Given the description of an element on the screen output the (x, y) to click on. 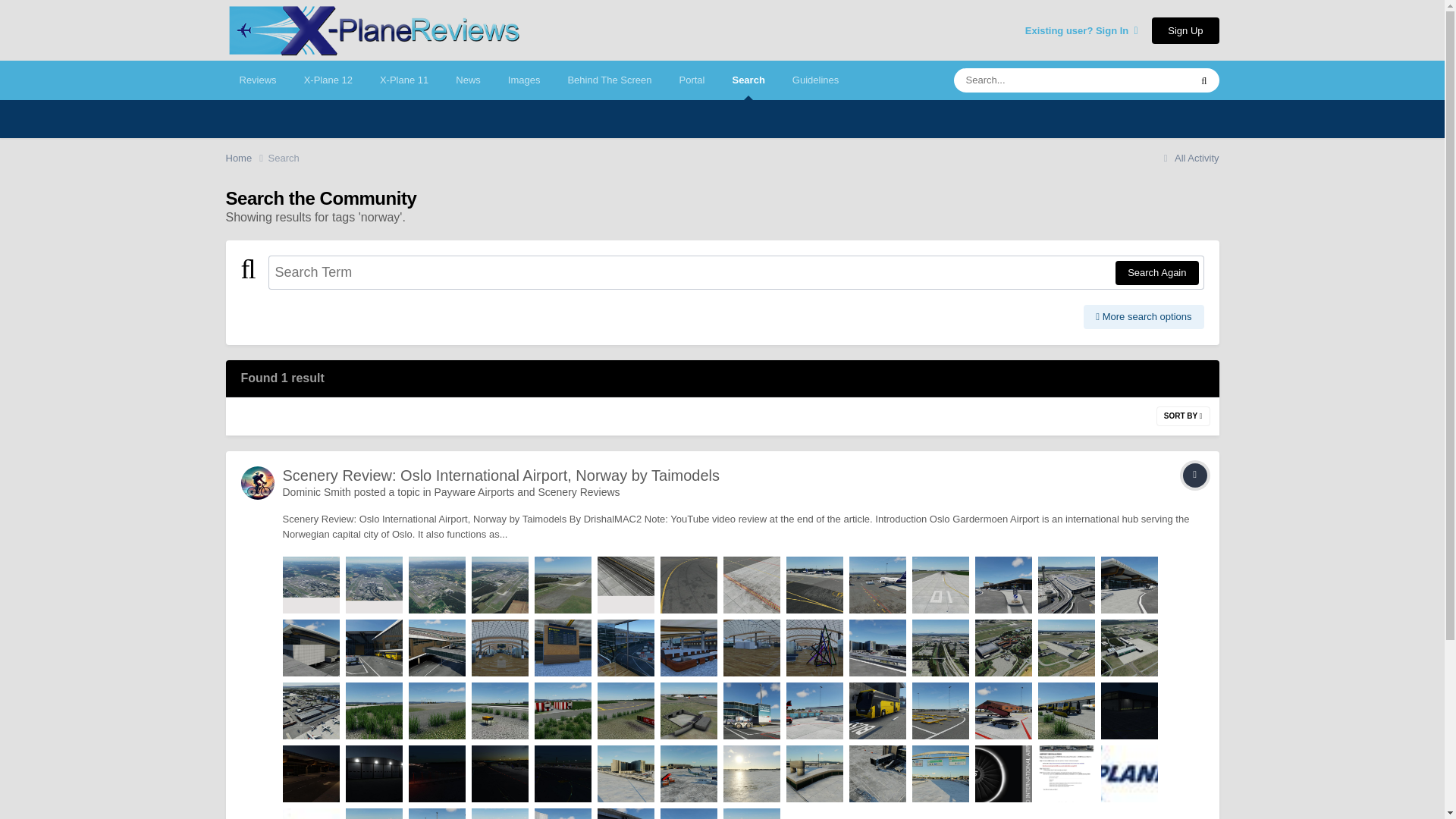
Reviews (257, 79)
Portal (692, 79)
Go to Dominic Smith's profile (258, 482)
Sign Up (1184, 29)
Search Again (1156, 273)
Search (747, 79)
Existing user? Sign In   (1081, 30)
Go to Dominic Smith's profile (316, 491)
Search (283, 157)
All Activity (1188, 157)
